Given the description of an element on the screen output the (x, y) to click on. 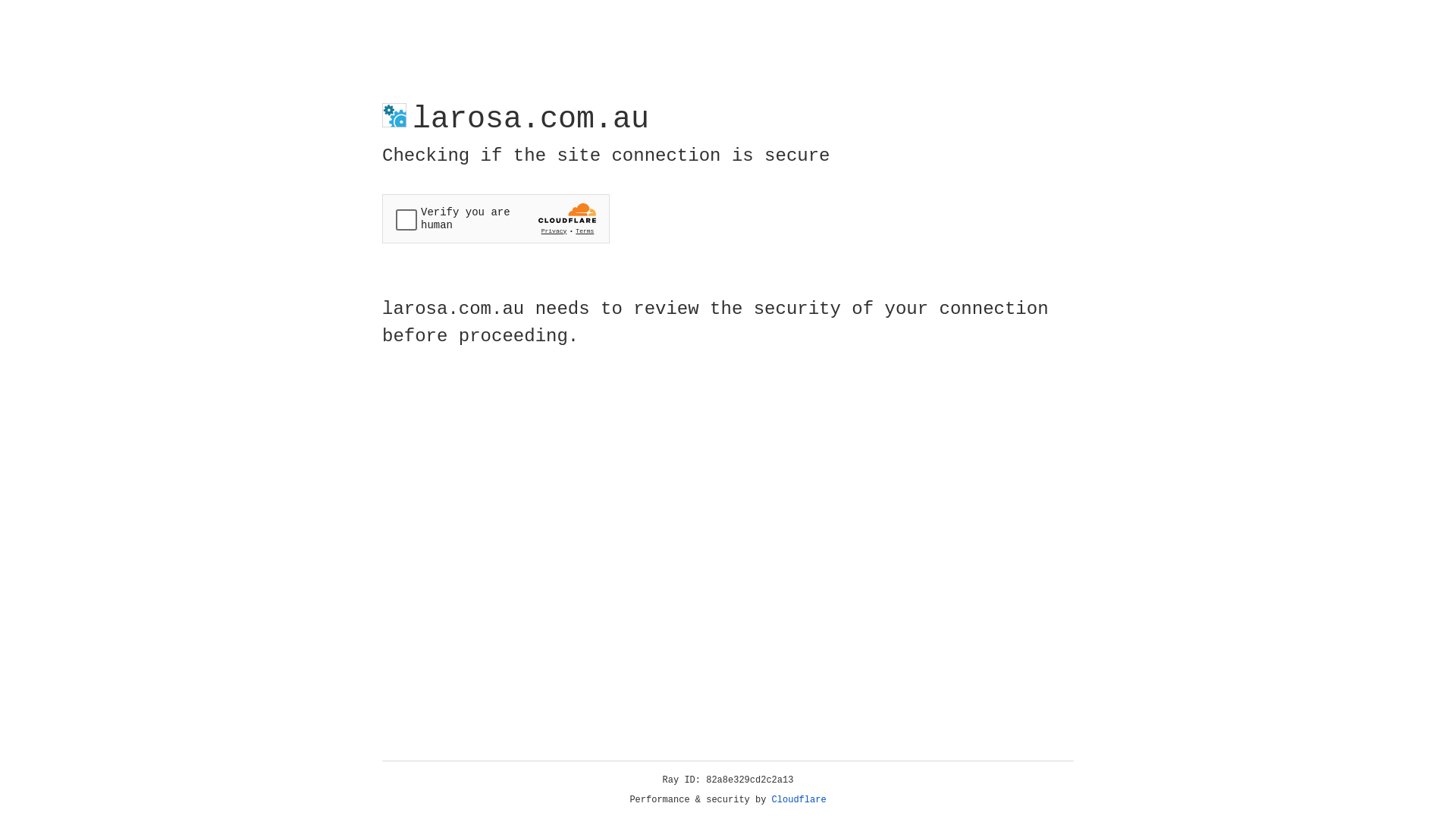
Cloudflare Element type: text (798, 799)
Widget containing a Cloudflare security challenge Element type: hover (495, 218)
